Given the description of an element on the screen output the (x, y) to click on. 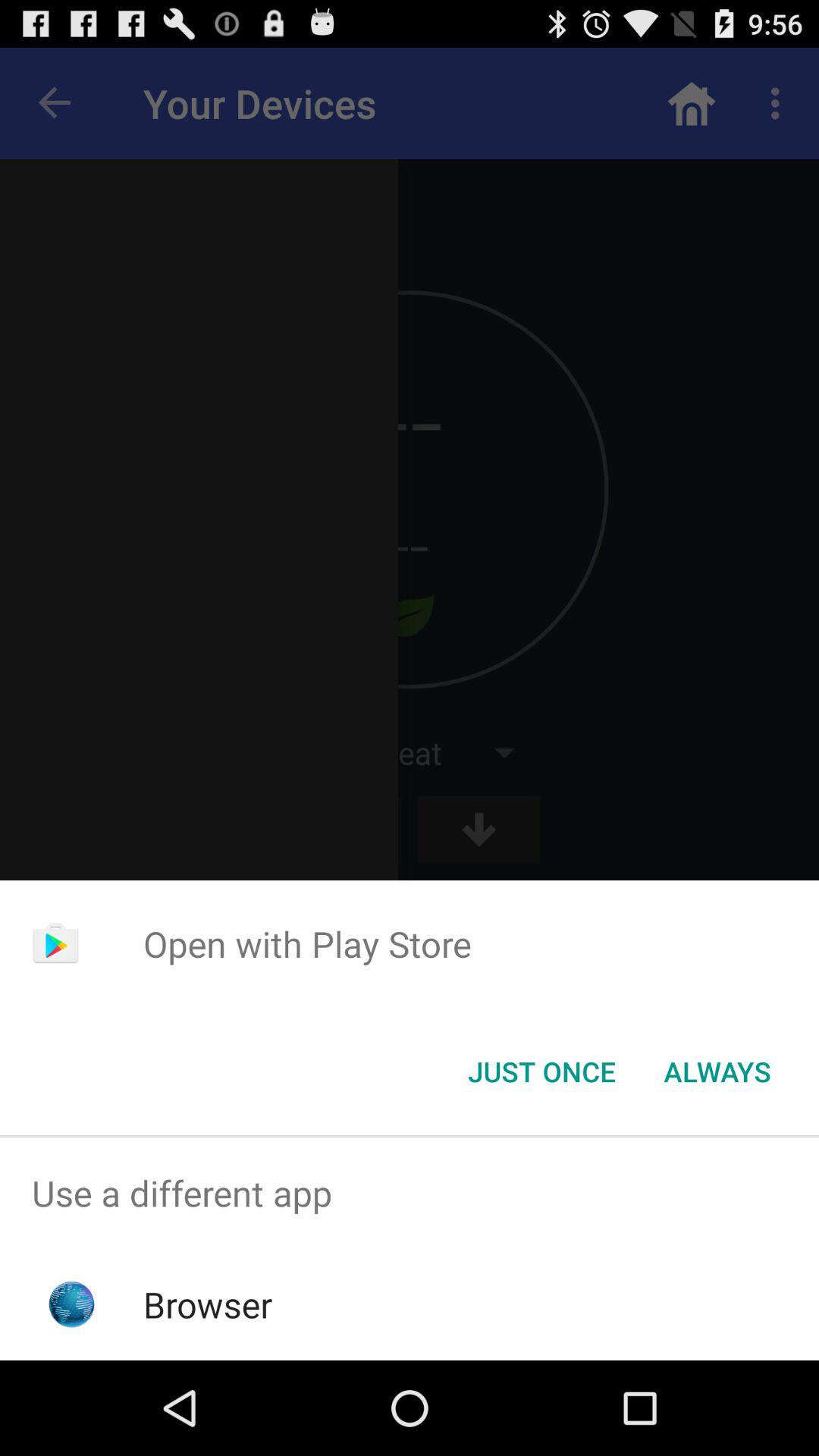
launch button next to the always icon (541, 1071)
